Given the description of an element on the screen output the (x, y) to click on. 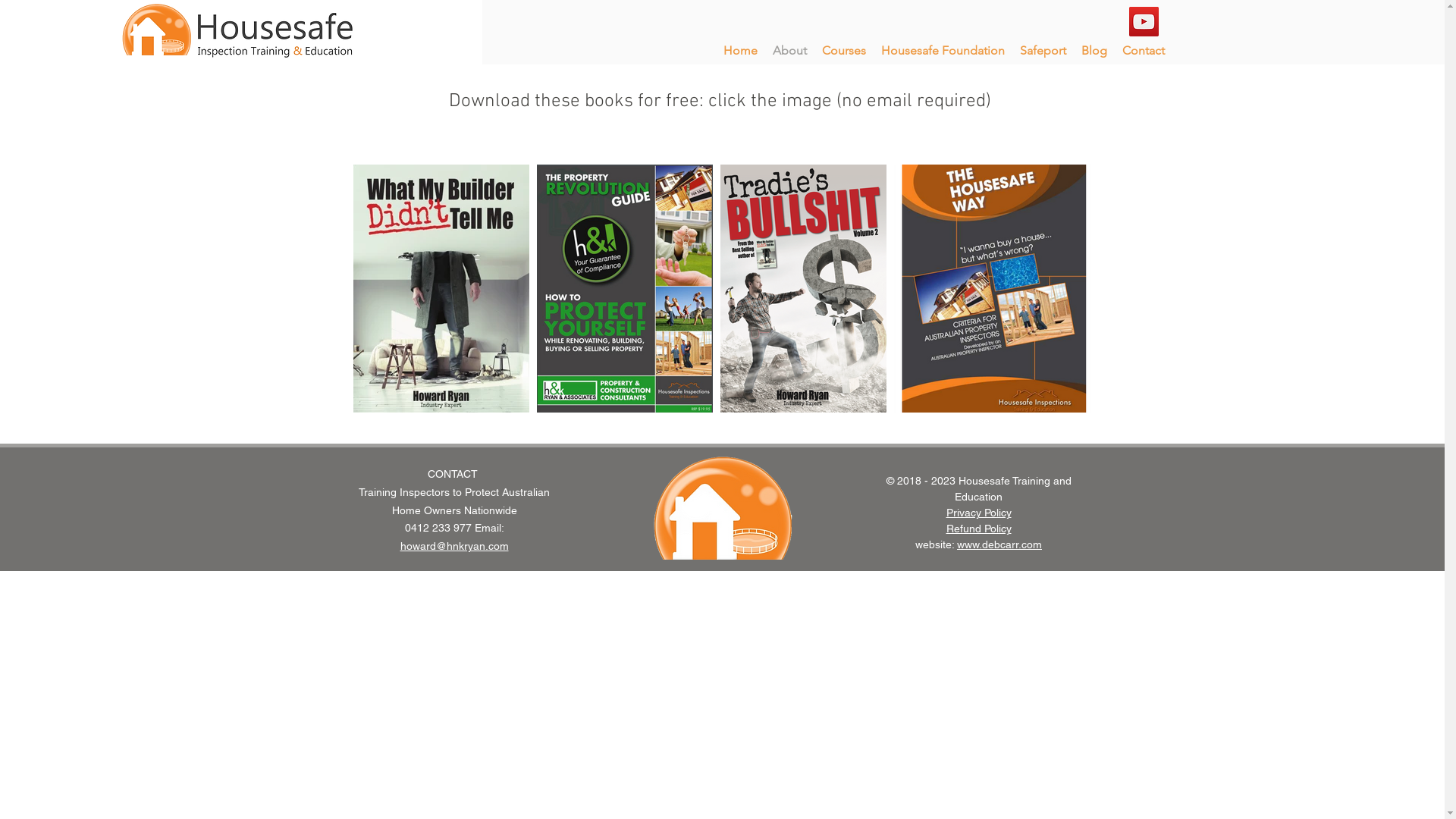
Contact Element type: text (1143, 50)
Home Element type: text (740, 50)
Safeport Element type: text (1042, 50)
Courses Element type: text (843, 50)
howard@hnkryan.com Element type: text (454, 545)
Housesafe Foundation Element type: text (942, 50)
Blog Element type: text (1093, 50)
www.debcarr.com Element type: text (999, 544)
Refund Policy Element type: text (978, 528)
About Element type: text (789, 50)
Privacy Policy Element type: text (978, 512)
